Given the description of an element on the screen output the (x, y) to click on. 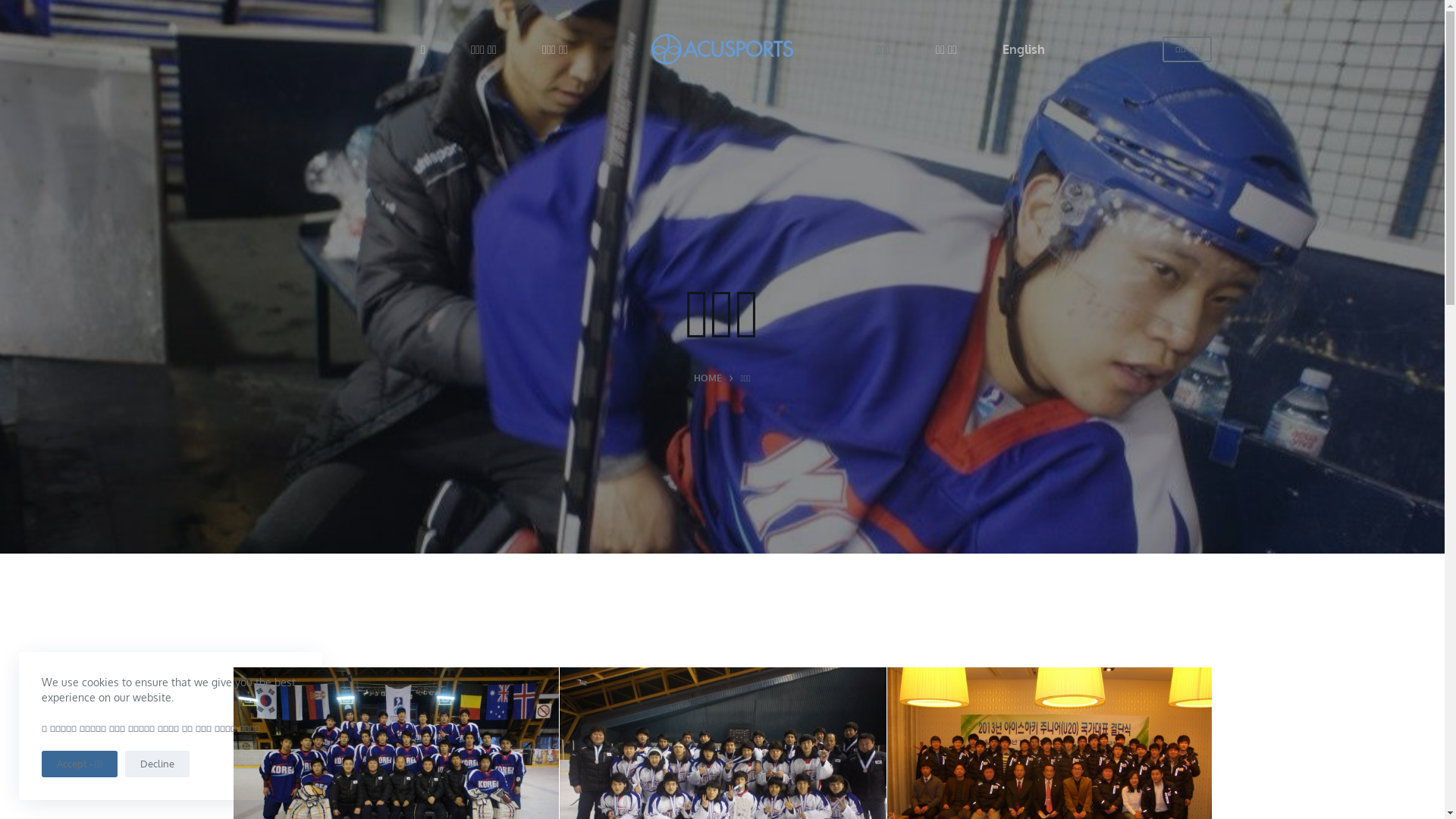
HOME Element type: text (707, 377)
Skip to content Element type: text (15, 7)
Decline Element type: text (156, 763)
English Element type: text (1023, 49)
